Given the description of an element on the screen output the (x, y) to click on. 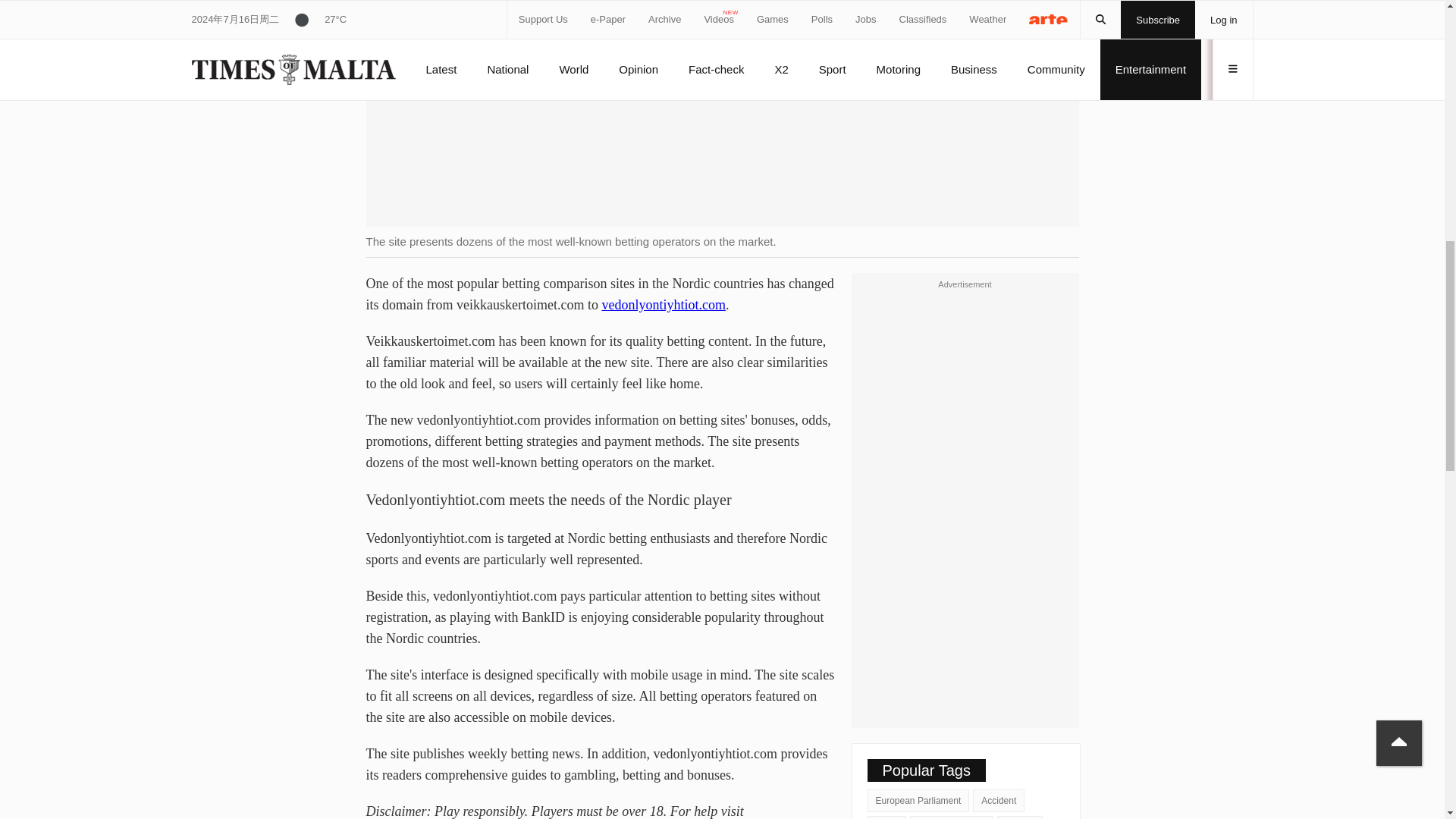
Court (886, 817)
Politics (1019, 817)
European Parliament (918, 800)
vedonlyontiyhtiot.com (663, 304)
Roberta Metsola (951, 817)
Accident (998, 800)
